Given the description of an element on the screen output the (x, y) to click on. 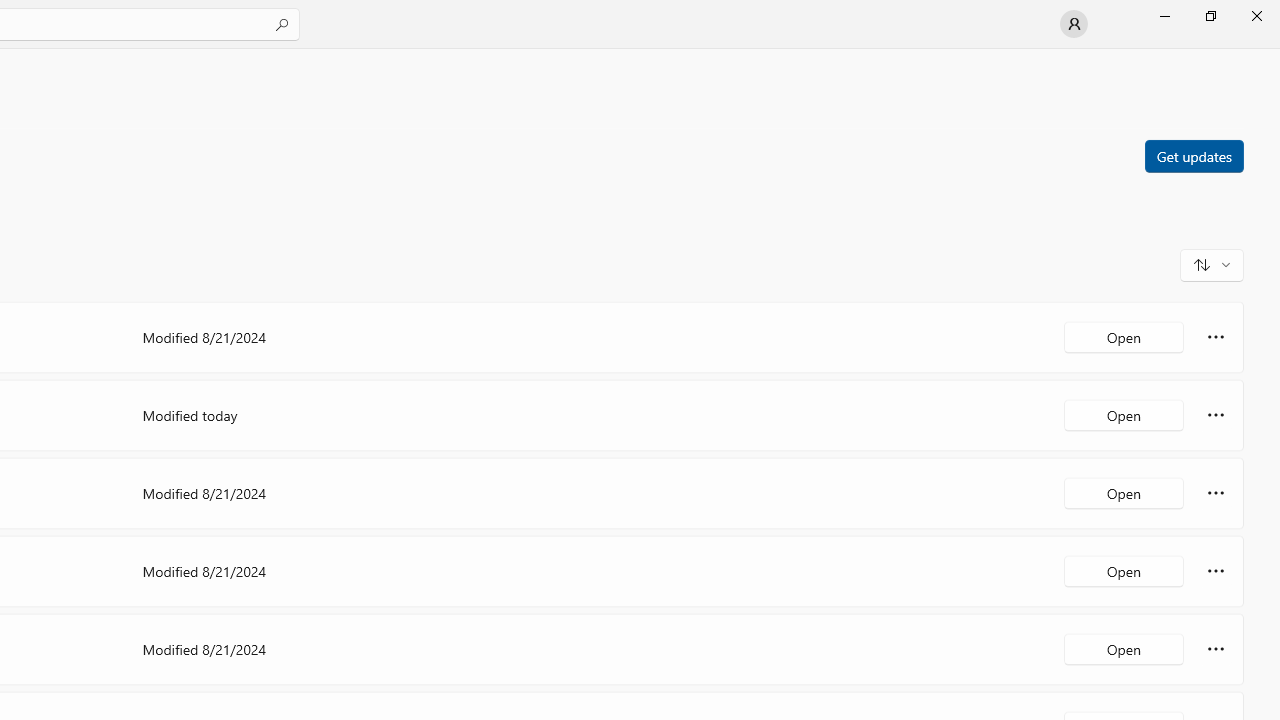
Get updates (1193, 155)
Sort and filter (1212, 263)
User profile (1073, 24)
Restore Microsoft Store (1210, 15)
Open (1123, 648)
Minimize Microsoft Store (1164, 15)
Close Microsoft Store (1256, 15)
More options (1215, 648)
